Given the description of an element on the screen output the (x, y) to click on. 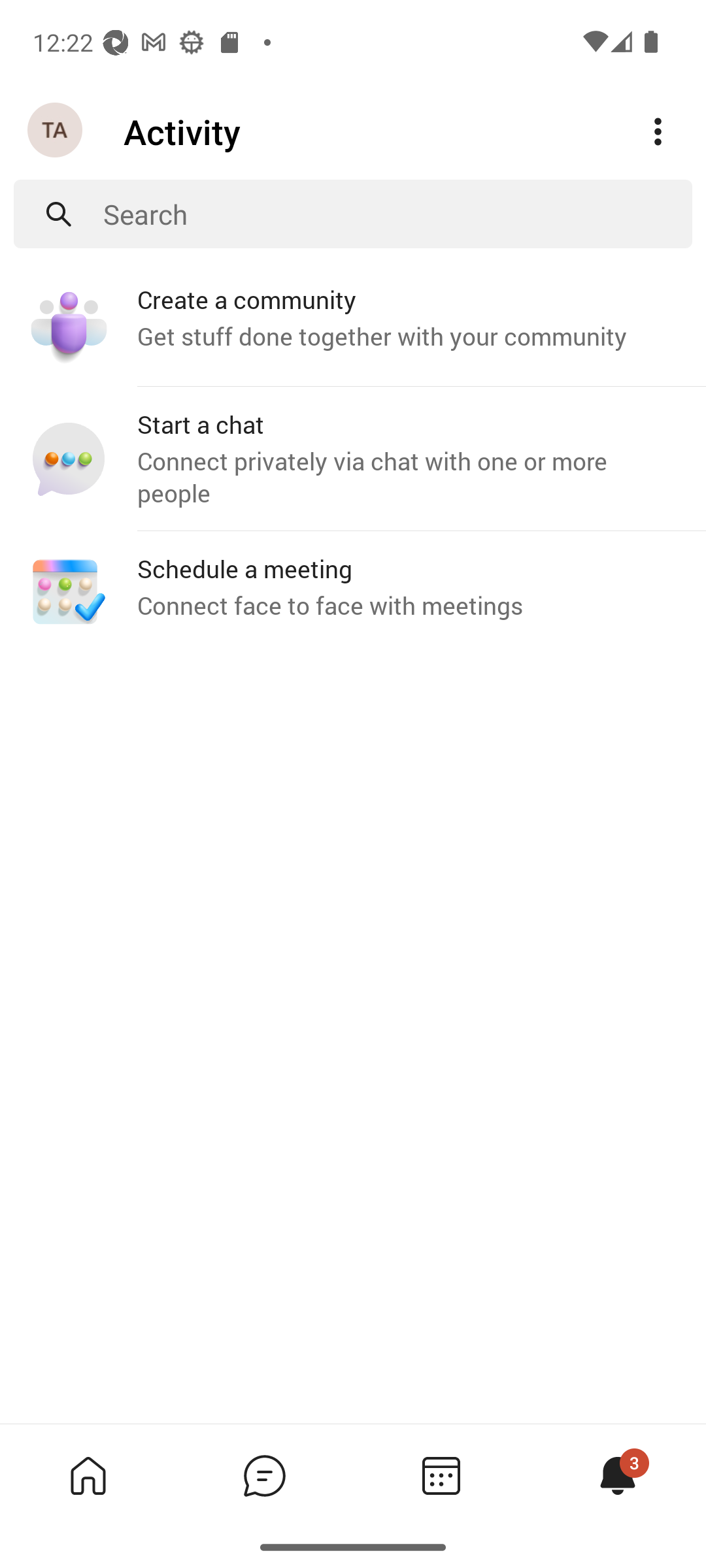
More options (657, 131)
Navigation (56, 130)
Search (397, 213)
Home tab,1 of 4, not selected (88, 1475)
Chat tab,2 of 4, not selected (264, 1475)
Calendar tab,3 of 4, not selected (441, 1475)
Activity tab, 4 of 4, 3 new 3 (617, 1475)
